Given the description of an element on the screen output the (x, y) to click on. 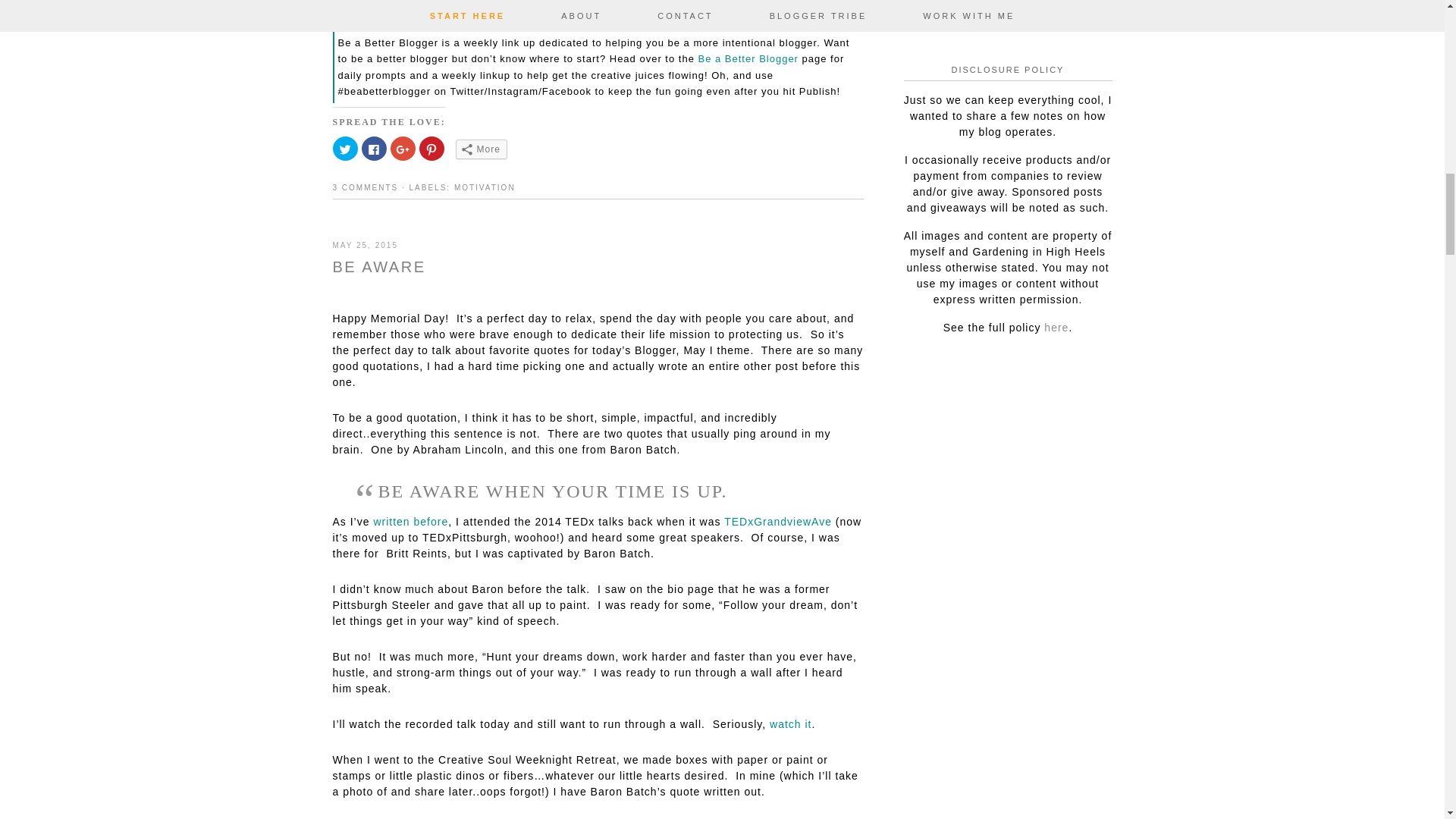
More (480, 148)
written (390, 521)
Click to share on Pinterest (431, 148)
Be a Better Blogger (747, 58)
3 COMMENTS (364, 187)
TEDxGrandviewAve (777, 521)
before (430, 521)
Click to share on Facebook (373, 148)
MOTIVATION (484, 187)
Click to share on Twitter (343, 148)
BE AWARE (378, 266)
